Given the description of an element on the screen output the (x, y) to click on. 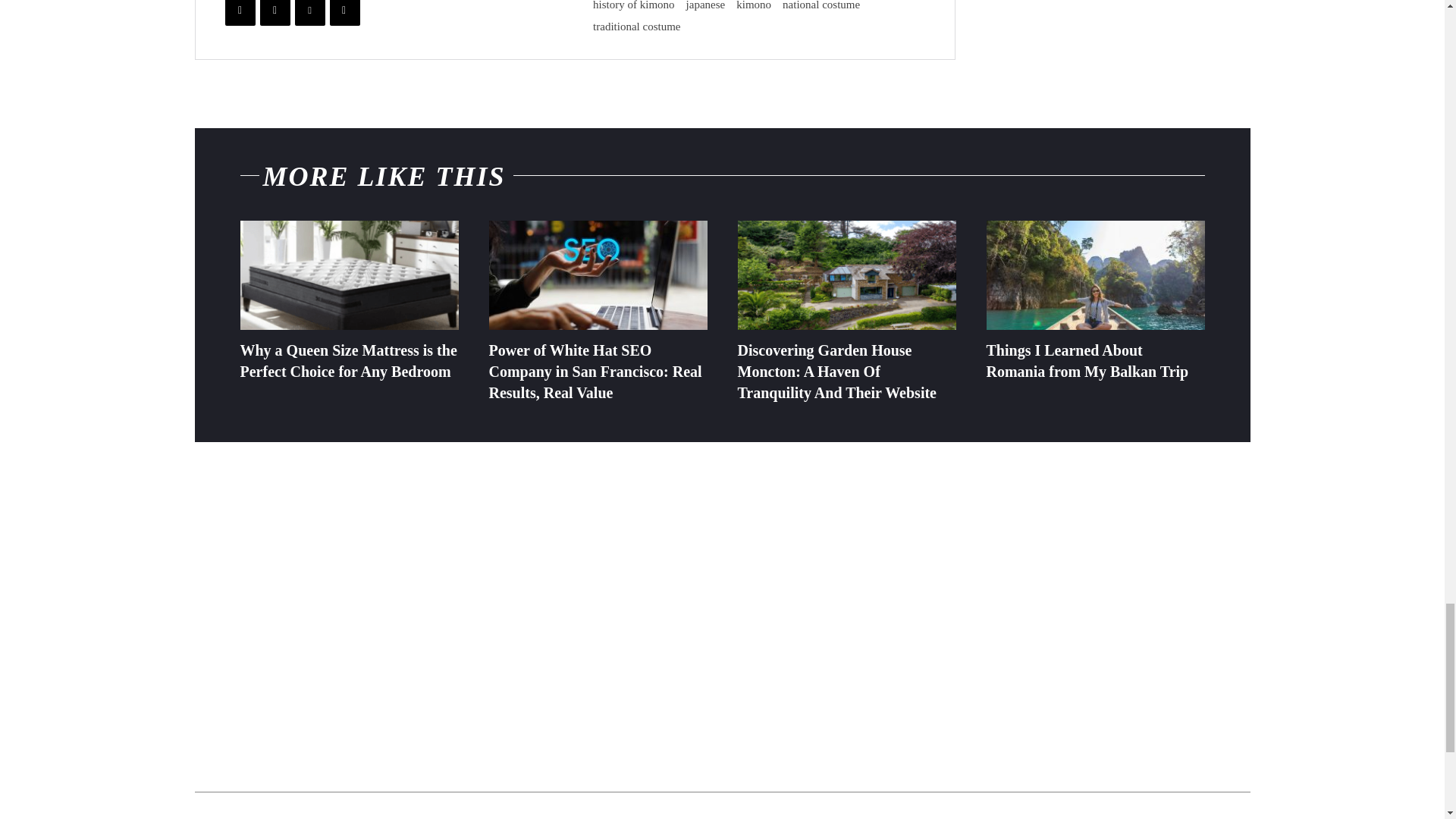
Pinterest (309, 12)
Facebook (239, 12)
Mix (344, 12)
Twitter (274, 12)
